Given the description of an element on the screen output the (x, y) to click on. 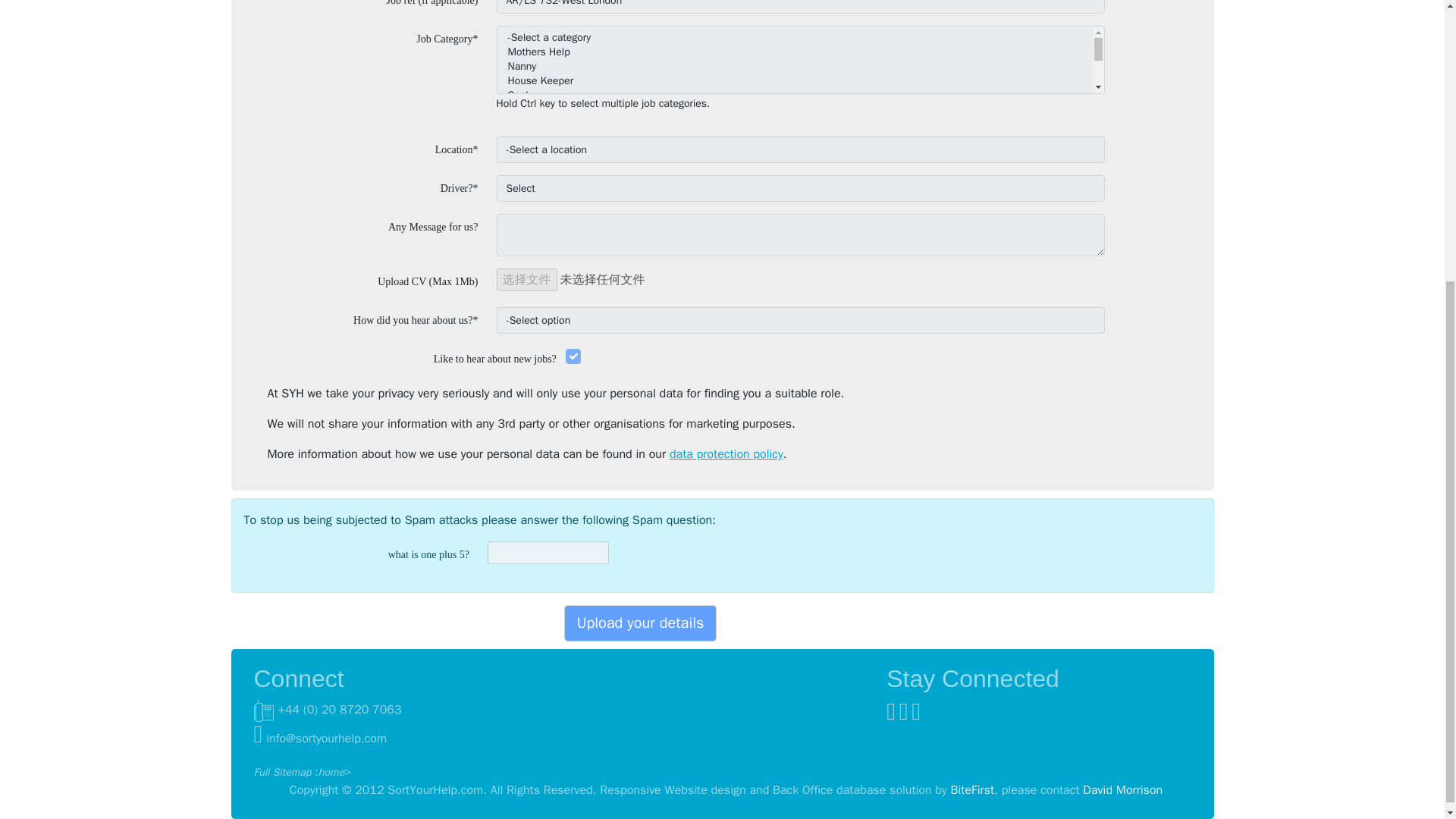
Upload your details (640, 623)
Upload your details (640, 623)
1 (573, 355)
data protection policy (726, 453)
